Given the description of an element on the screen output the (x, y) to click on. 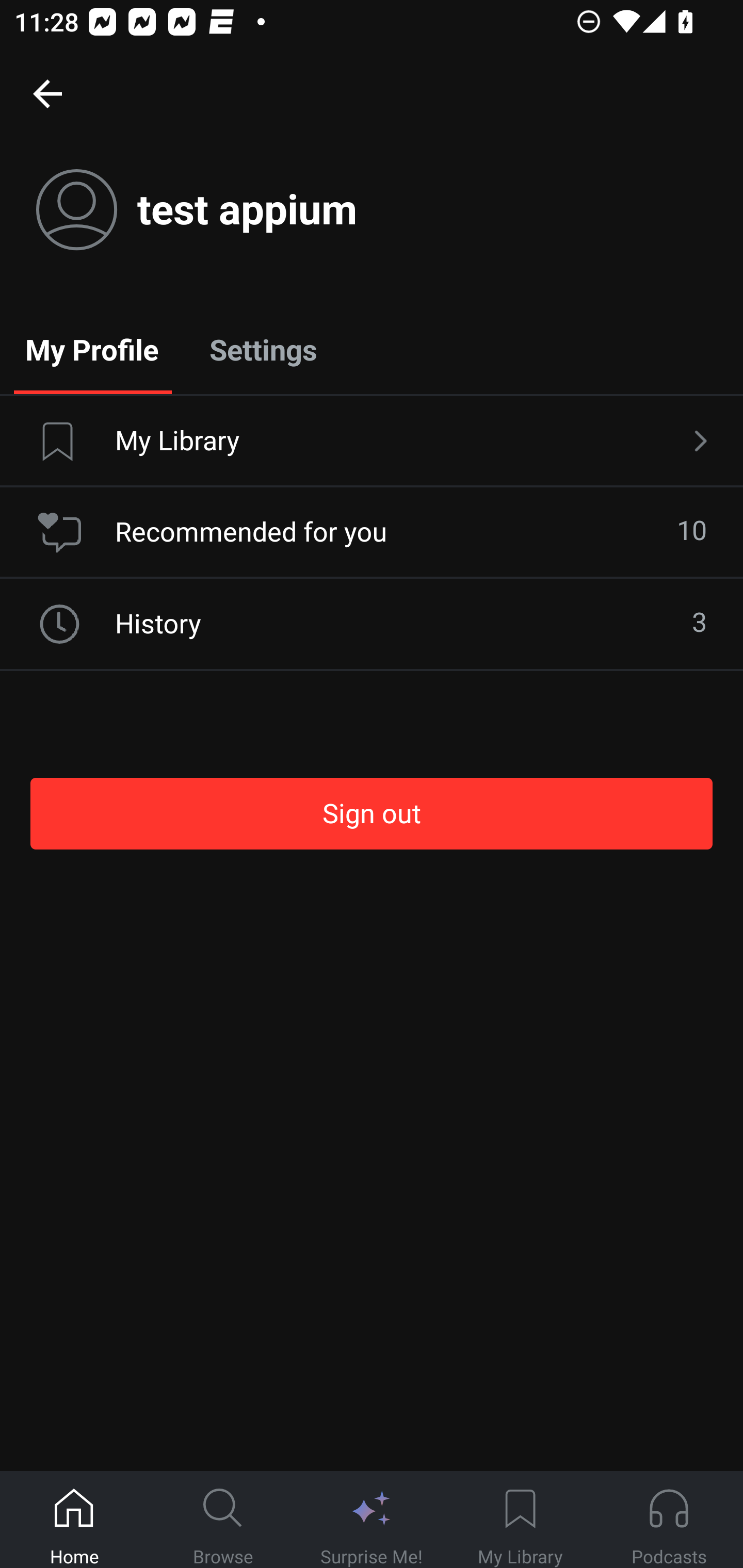
Home, back (47, 92)
My Profile (92, 348)
Settings (263, 348)
My Library (371, 441)
Recommended for you 10 (371, 532)
History 3 (371, 623)
Sign out (371, 813)
Home (74, 1520)
Browse (222, 1520)
Surprise Me! (371, 1520)
My Library (519, 1520)
Podcasts (668, 1520)
